Given the description of an element on the screen output the (x, y) to click on. 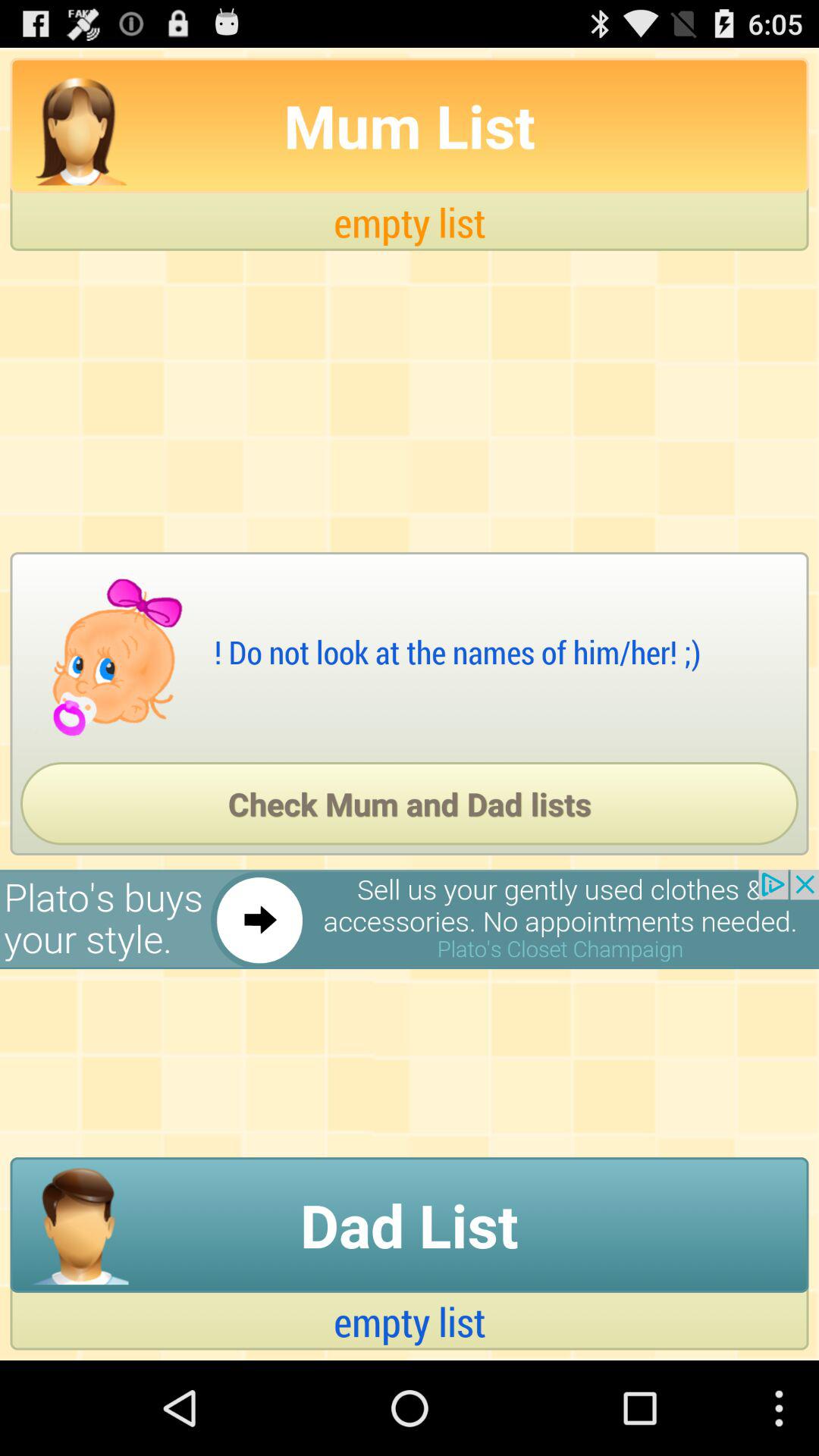
space where you access advertising (409, 919)
